Given the description of an element on the screen output the (x, y) to click on. 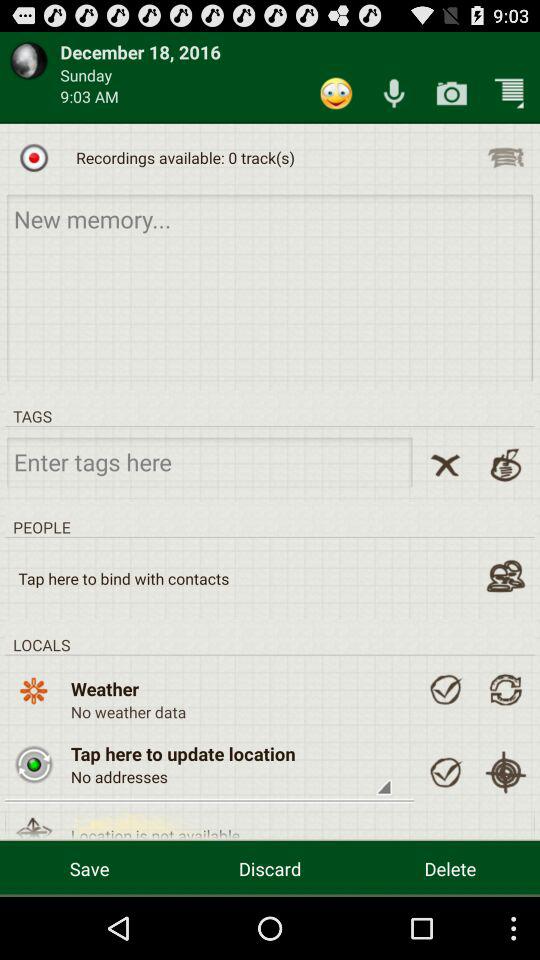
mike option turned on (394, 92)
